Given the description of an element on the screen output the (x, y) to click on. 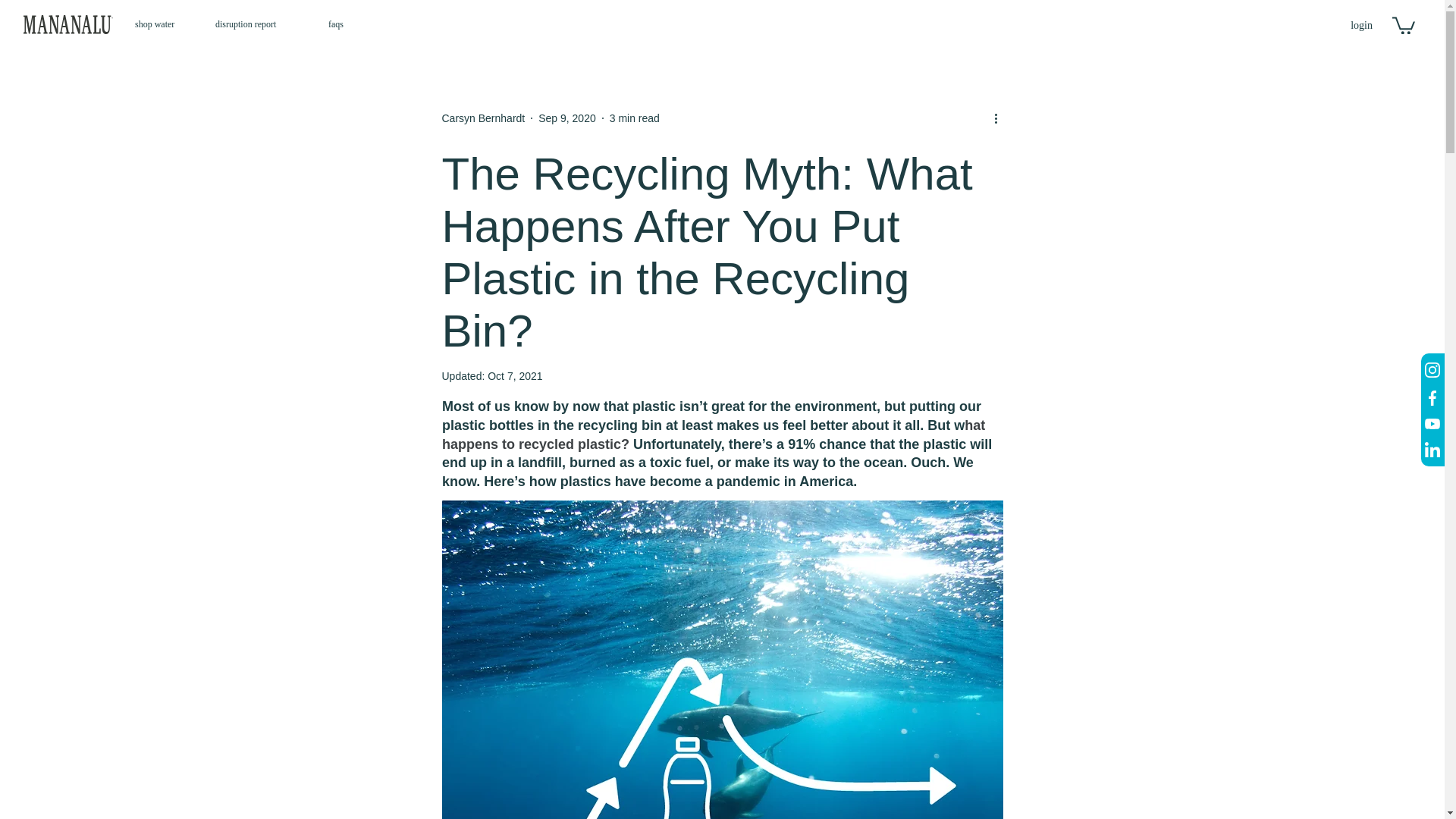
Oct 7, 2021 (514, 376)
faqs (339, 23)
Carsyn Bernhardt (482, 118)
shop water (163, 23)
Sep 9, 2020 (566, 118)
disruption report (260, 23)
login (1361, 25)
Carsyn Bernhardt (482, 118)
3 min read (634, 118)
